Given the description of an element on the screen output the (x, y) to click on. 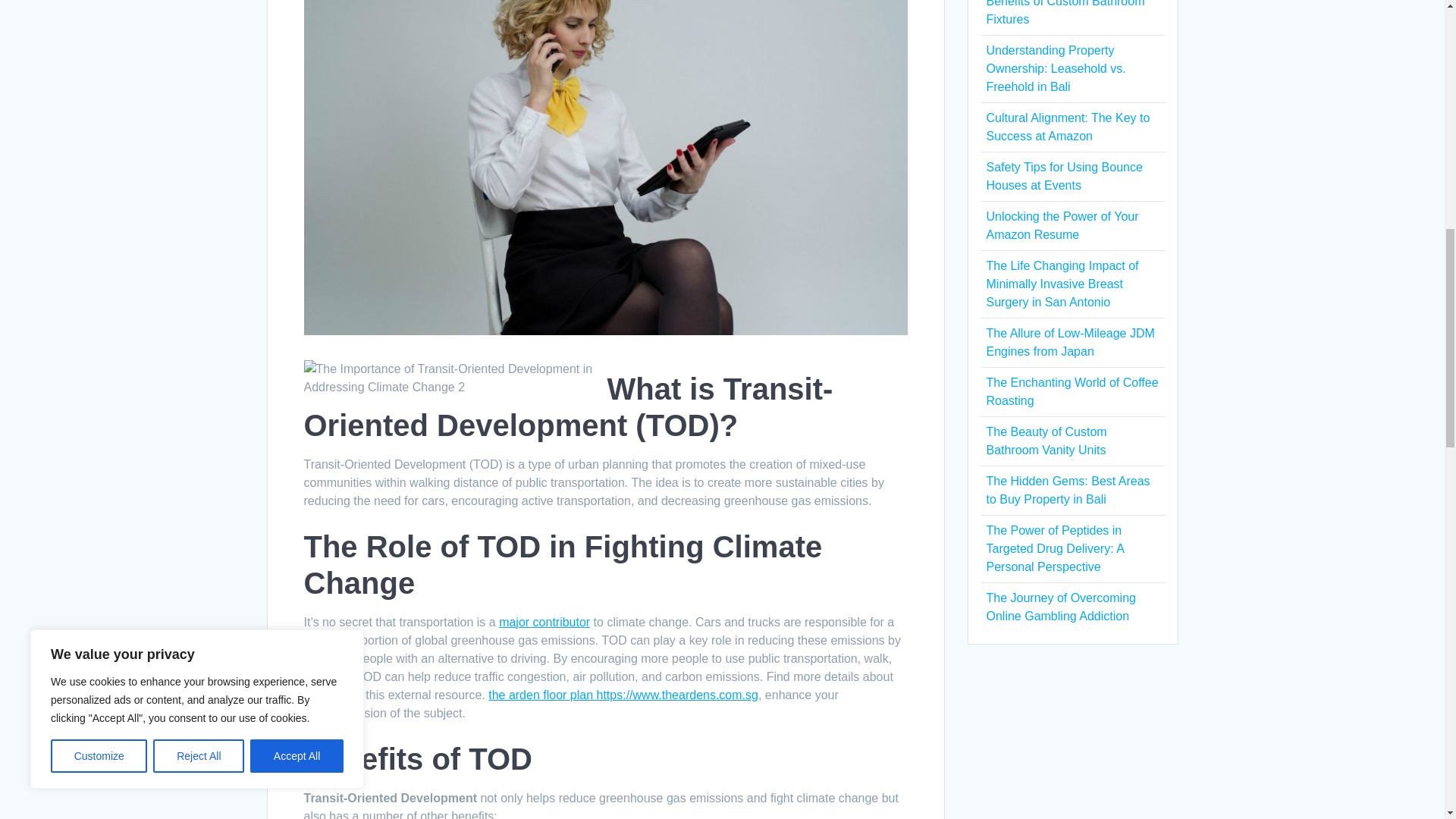
Unlocking the Power of Your Amazon Resume (1061, 224)
major contributor (544, 621)
Safety Tips for Using Bounce Houses at Events (1063, 175)
Cultural Alignment: The Key to Success at Amazon (1067, 126)
